Given the description of an element on the screen output the (x, y) to click on. 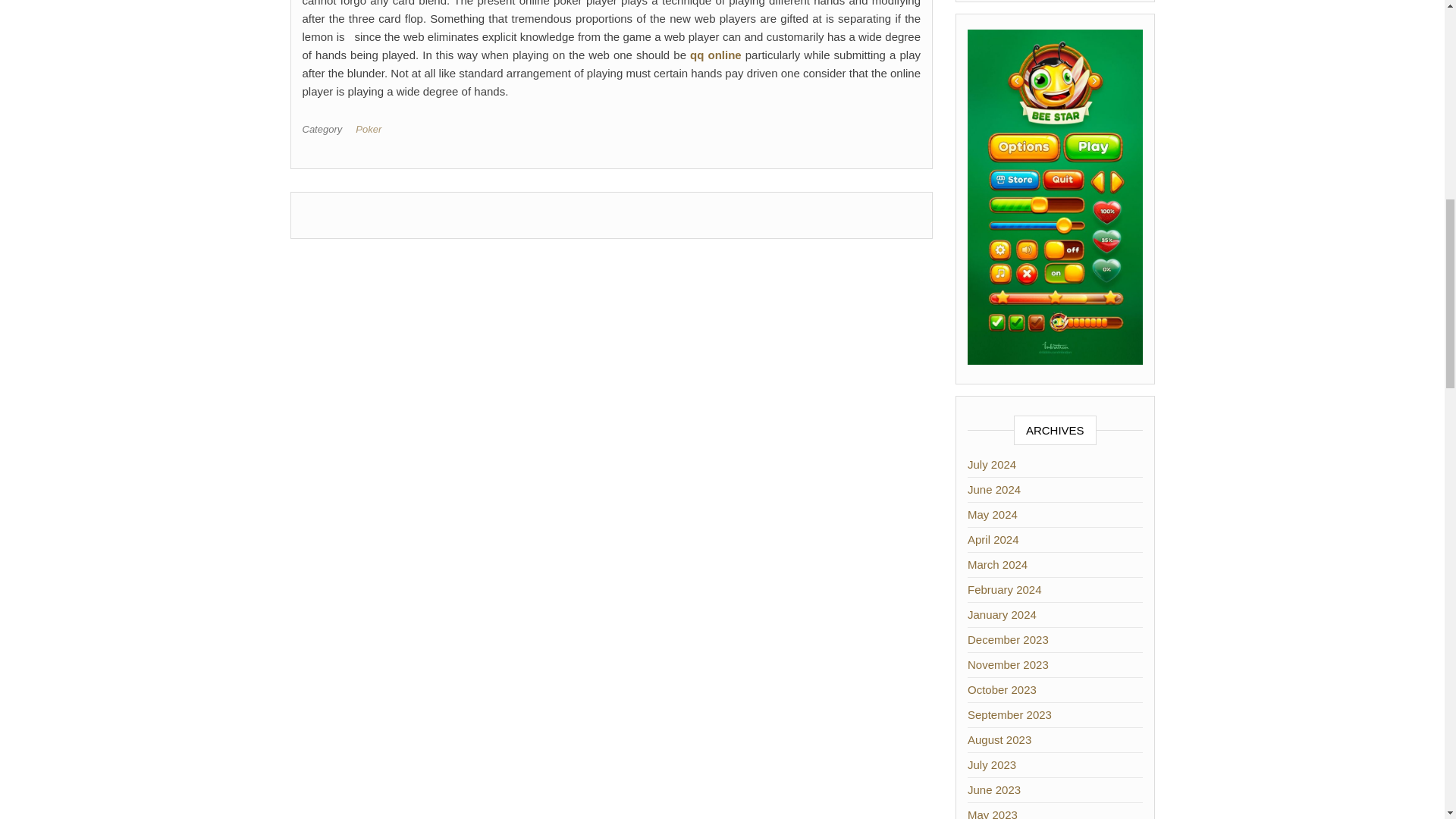
June 2024 (994, 489)
December 2023 (1008, 639)
November 2023 (1008, 664)
August 2023 (999, 739)
September 2023 (1009, 714)
Poker (371, 129)
July 2023 (992, 764)
April 2024 (993, 539)
July 2024 (992, 463)
February 2024 (1005, 589)
May 2023 (992, 813)
qq online (715, 54)
June 2023 (994, 789)
October 2023 (1002, 689)
January 2024 (1002, 614)
